Given the description of an element on the screen output the (x, y) to click on. 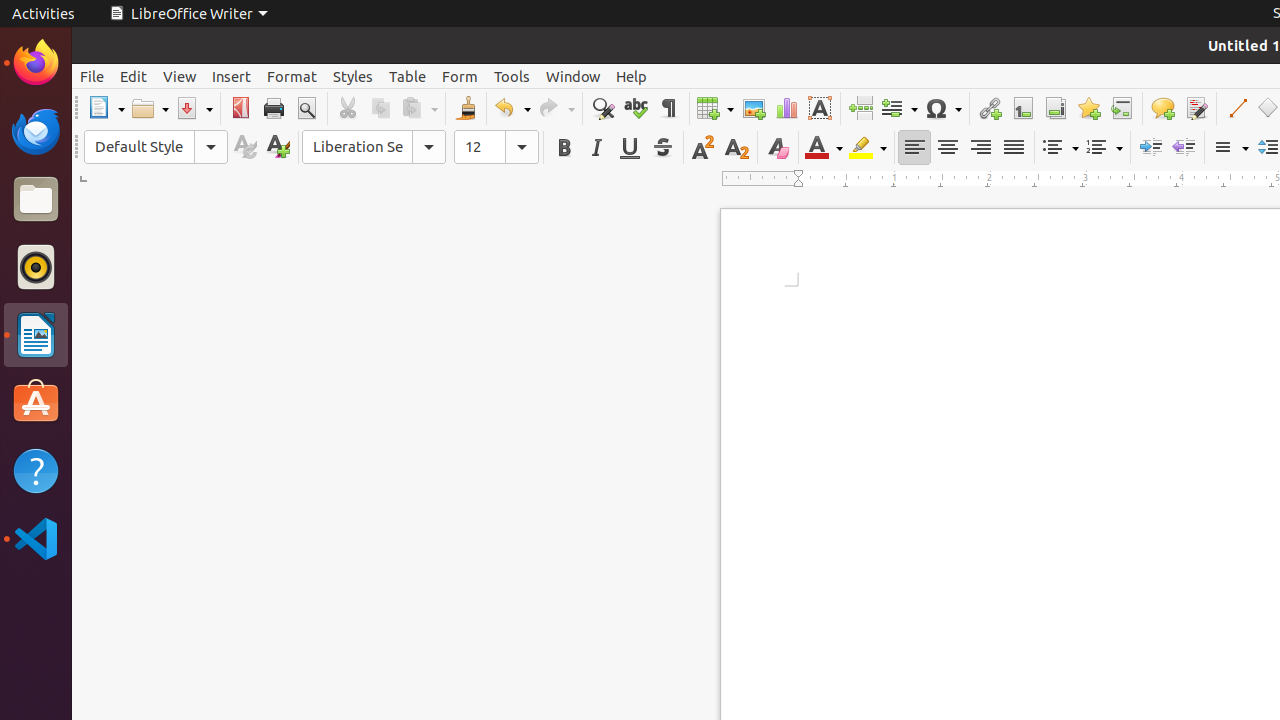
Center Element type: toggle-button (947, 147)
Insert Element type: menu (231, 76)
Page Break Element type: push-button (860, 108)
Strikethrough Element type: toggle-button (662, 147)
Copy Element type: push-button (380, 108)
